Given the description of an element on the screen output the (x, y) to click on. 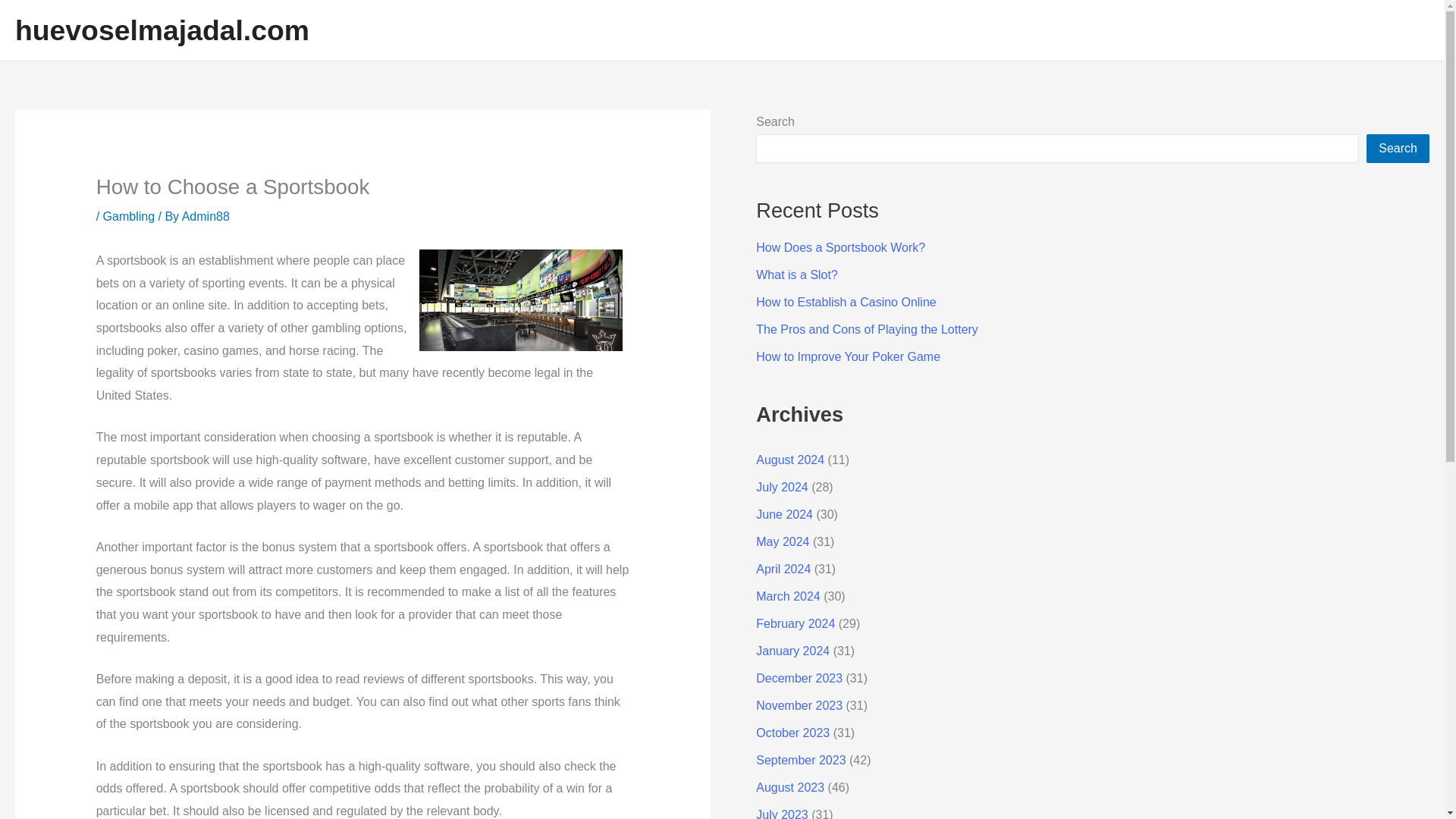
Admin88 (206, 215)
September 2023 (800, 759)
How to Establish a Casino Online (845, 301)
The Pros and Cons of Playing the Lottery (866, 328)
January 2024 (792, 650)
How Does a Sportsbook Work? (839, 246)
February 2024 (794, 623)
August 2024 (789, 459)
July 2024 (781, 486)
May 2024 (782, 541)
